Given the description of an element on the screen output the (x, y) to click on. 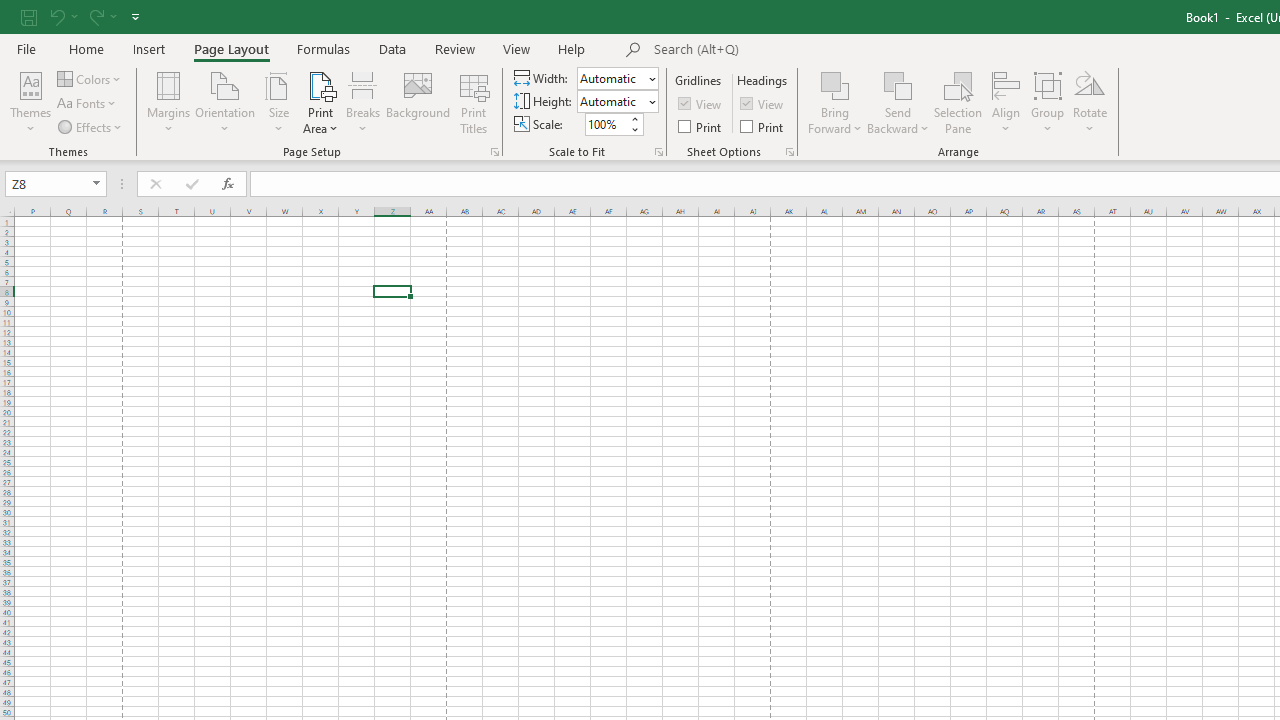
Height (618, 101)
Scale (605, 124)
Bring Forward (835, 102)
Width (618, 78)
Colors (90, 78)
